Given the description of an element on the screen output the (x, y) to click on. 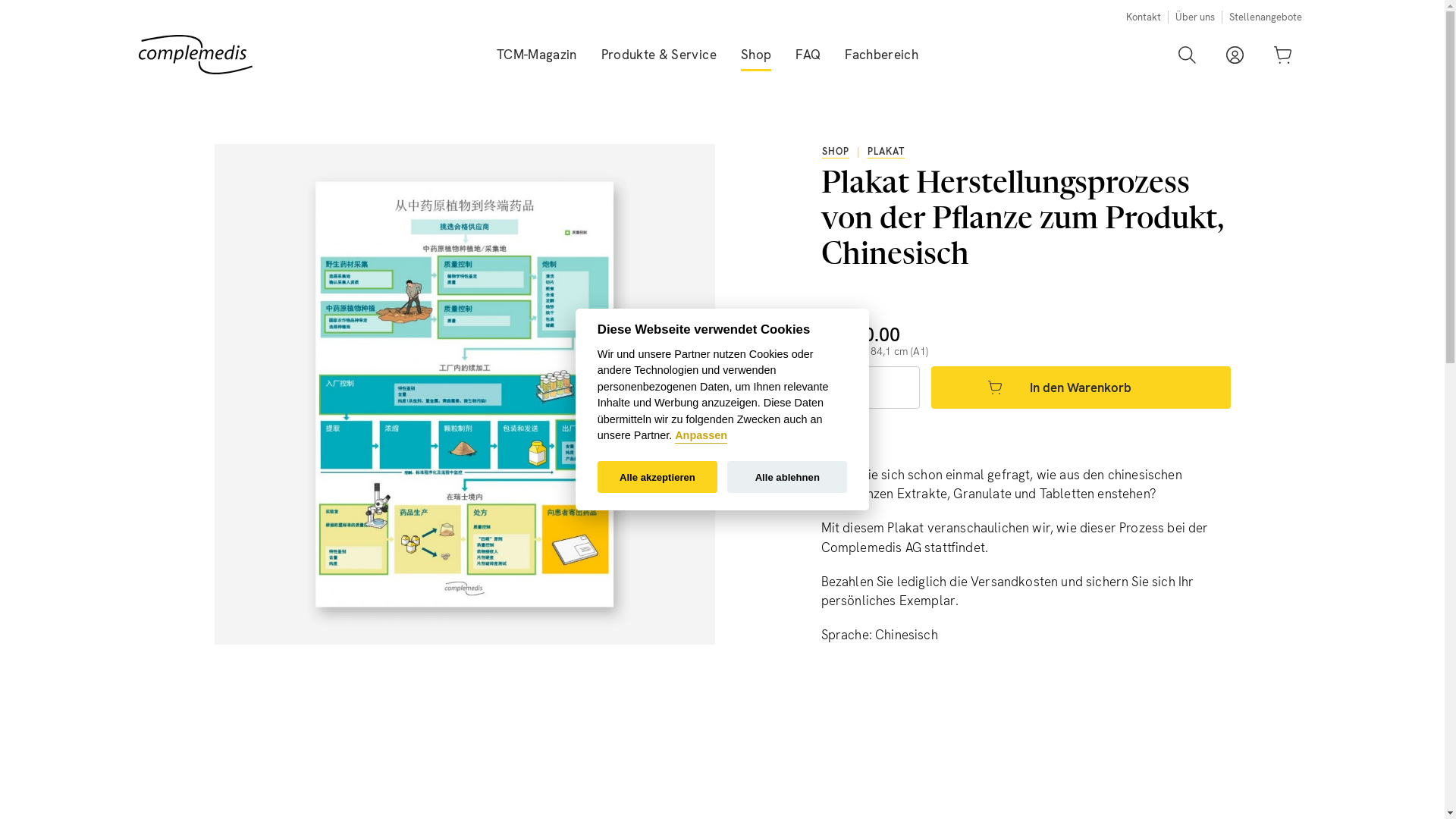
Alle ablehnen Element type: text (787, 477)
PLAKAT Element type: text (885, 151)
TCM-Magazin Element type: text (536, 54)
Alle akzeptieren Element type: text (657, 477)
FAQ Element type: text (807, 54)
SHOP Element type: text (835, 151)
Produkte & Service Element type: text (658, 54)
Kontakt Element type: text (1142, 16)
Shop Element type: text (755, 54)
Fachbereich Element type: text (881, 54)
Stellenangebote Element type: text (1264, 16)
Anpassen Element type: text (700, 436)
In den Warenkorb Element type: text (1080, 387)
